Given the description of an element on the screen output the (x, y) to click on. 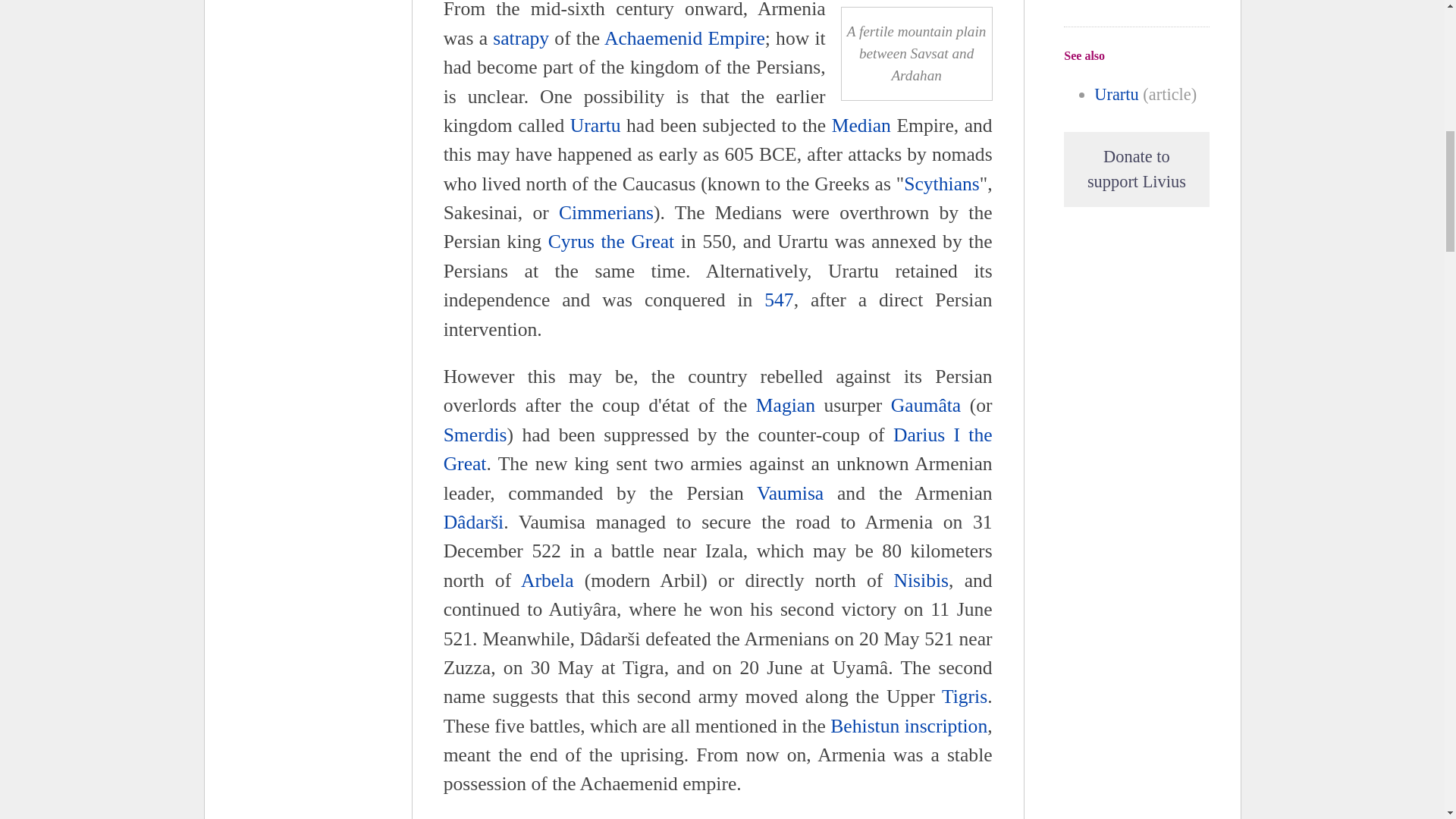
satrapy (520, 38)
Urartu (595, 125)
Smerdis (475, 434)
Behistun inscription (908, 725)
Cyrus the Great (611, 241)
Darius I the Great (718, 449)
Tigris (964, 696)
Scythians (941, 183)
Median (861, 125)
Nisibis (921, 580)
